Given the description of an element on the screen output the (x, y) to click on. 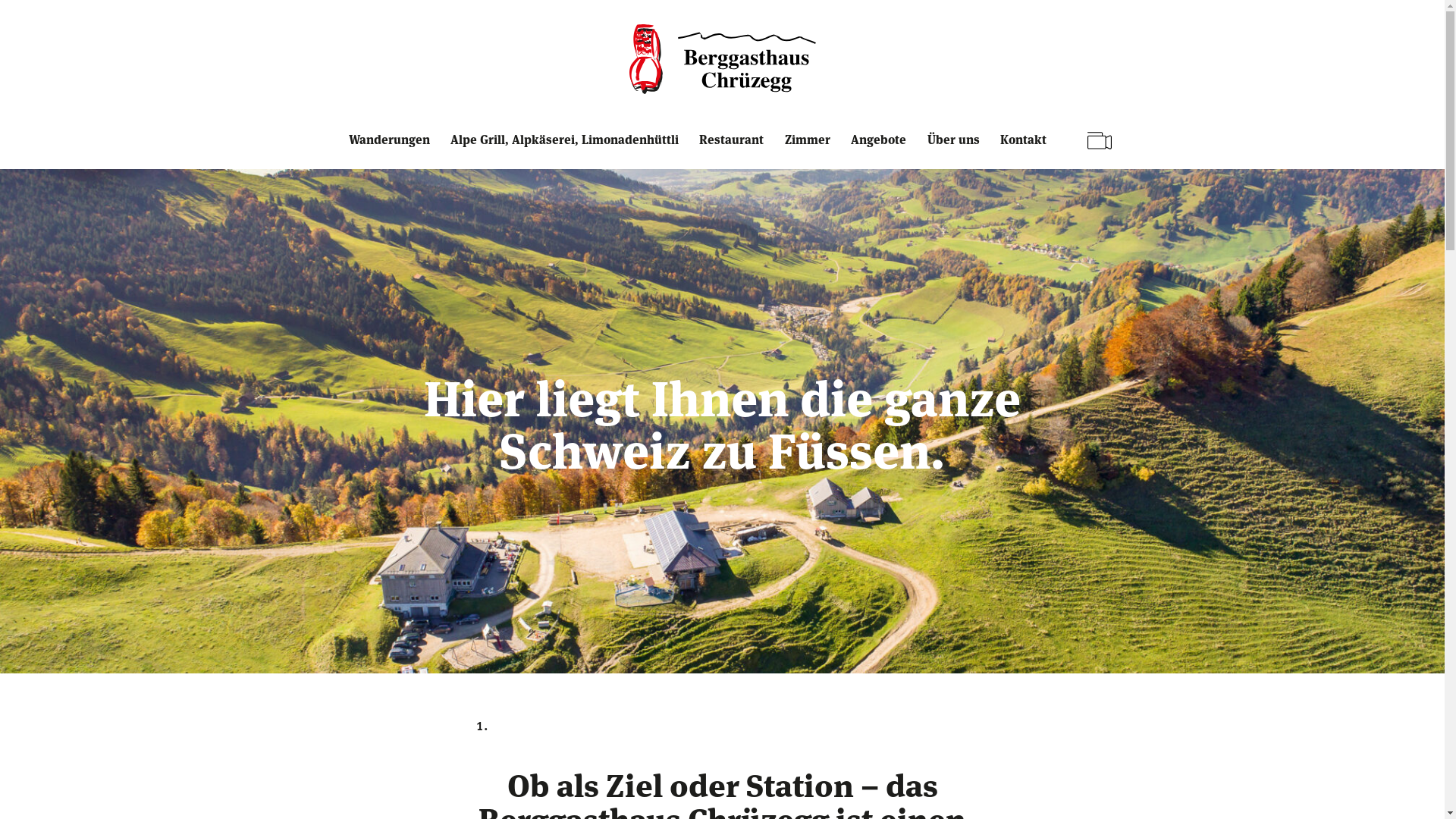
Restaurant Element type: text (734, 150)
Kontakt Element type: text (1026, 150)
Angebote Element type: text (881, 150)
Wanderungen Element type: text (392, 150)
Zimmer Element type: text (810, 150)
